Given the description of an element on the screen output the (x, y) to click on. 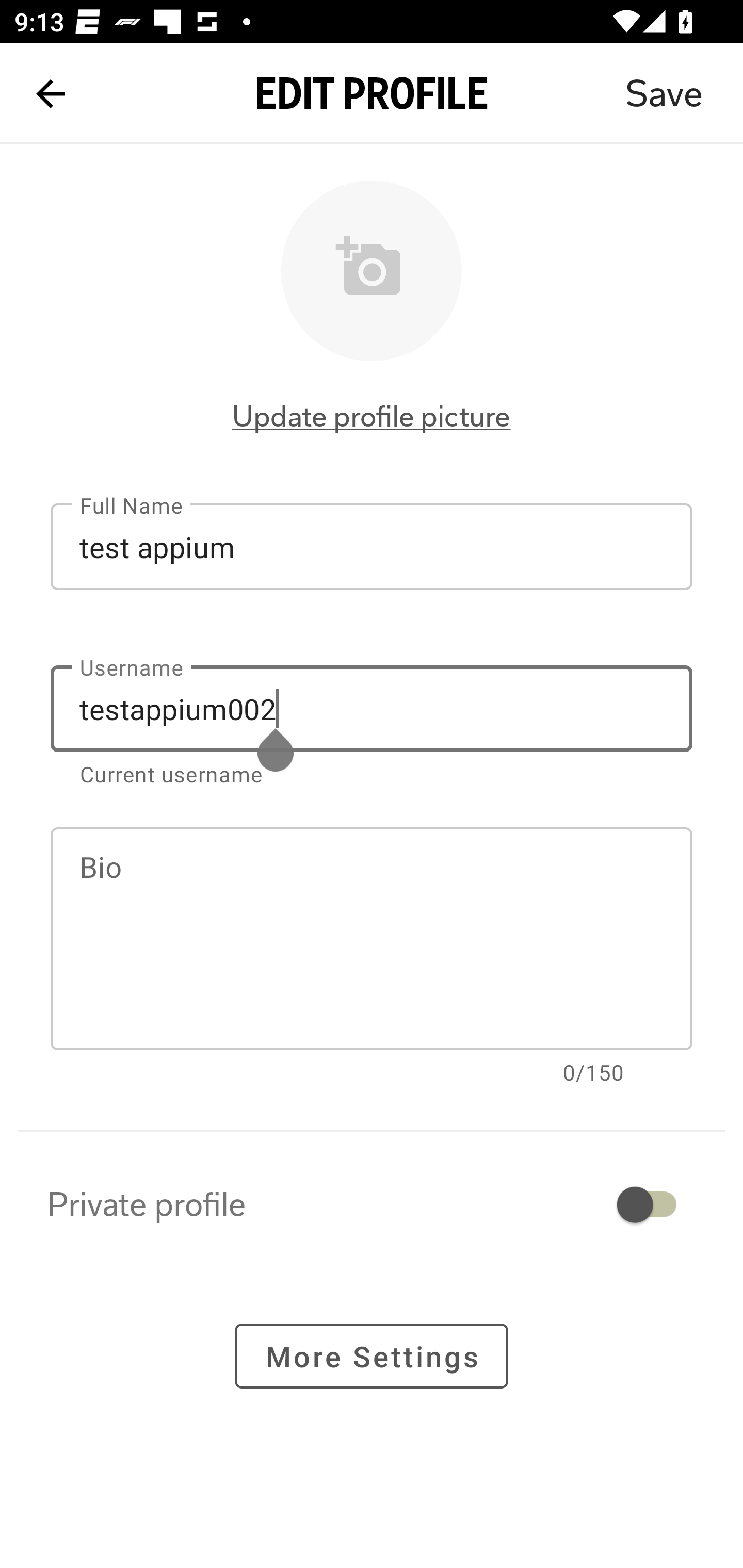
Back (50, 93)
Save (663, 93)
Update profile picture (371, 415)
test appium (371, 546)
testappium002 (371, 708)
Bio (371, 938)
Private profile (371, 1204)
More Settings (371, 1355)
